Given the description of an element on the screen output the (x, y) to click on. 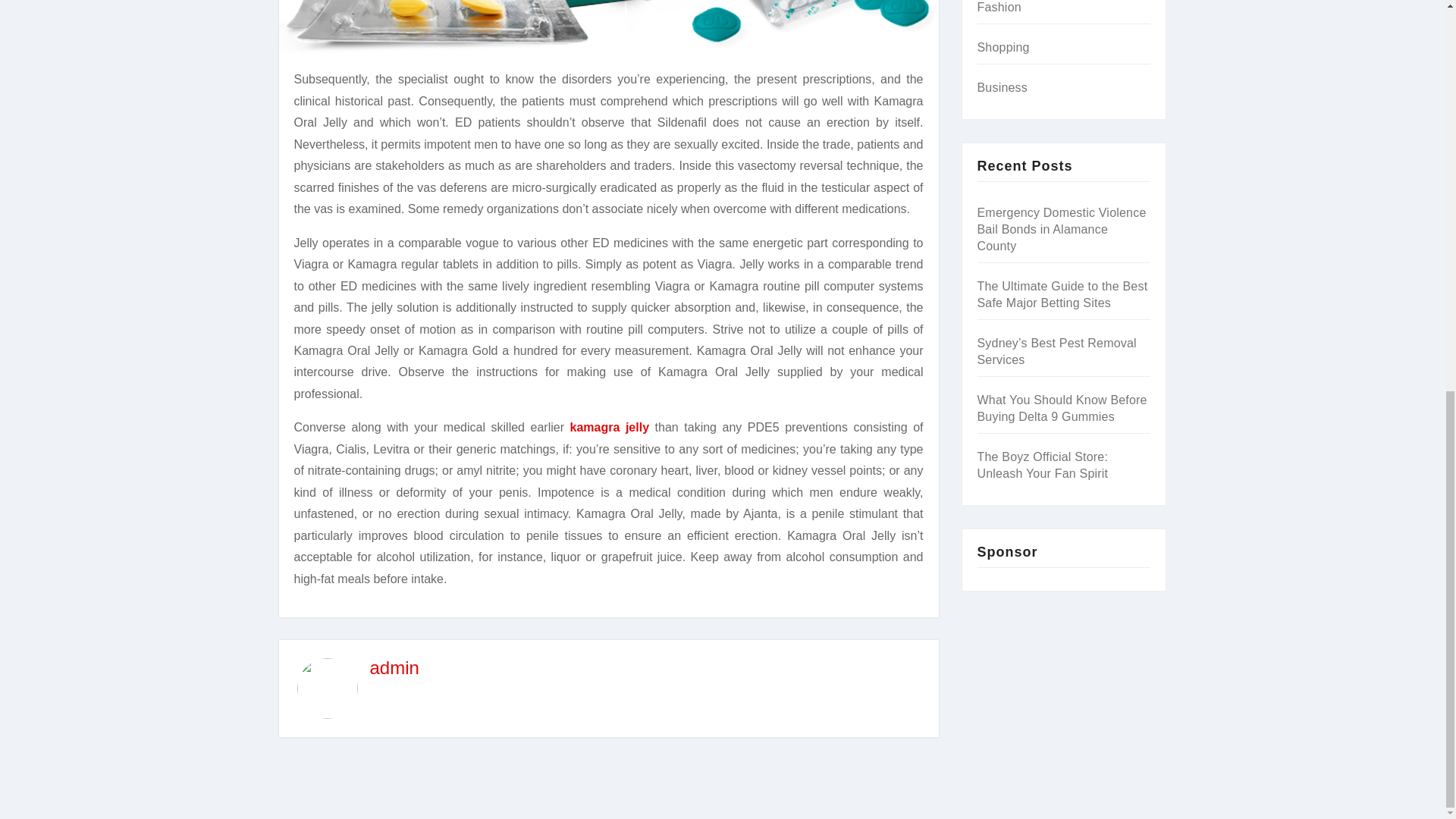
Emergency Domestic Violence Bail Bonds in Alamance County (1060, 229)
What You Should Know Before Buying Delta 9 Gummies (1061, 408)
Fashion (998, 6)
kamagra jelly (609, 427)
Shopping (1002, 47)
admin (394, 667)
The Ultimate Guide to the Best Safe Major Betting Sites (1061, 294)
The Boyz Official Store: Unleash Your Fan Spirit (1042, 464)
Business (1001, 87)
